Given the description of an element on the screen output the (x, y) to click on. 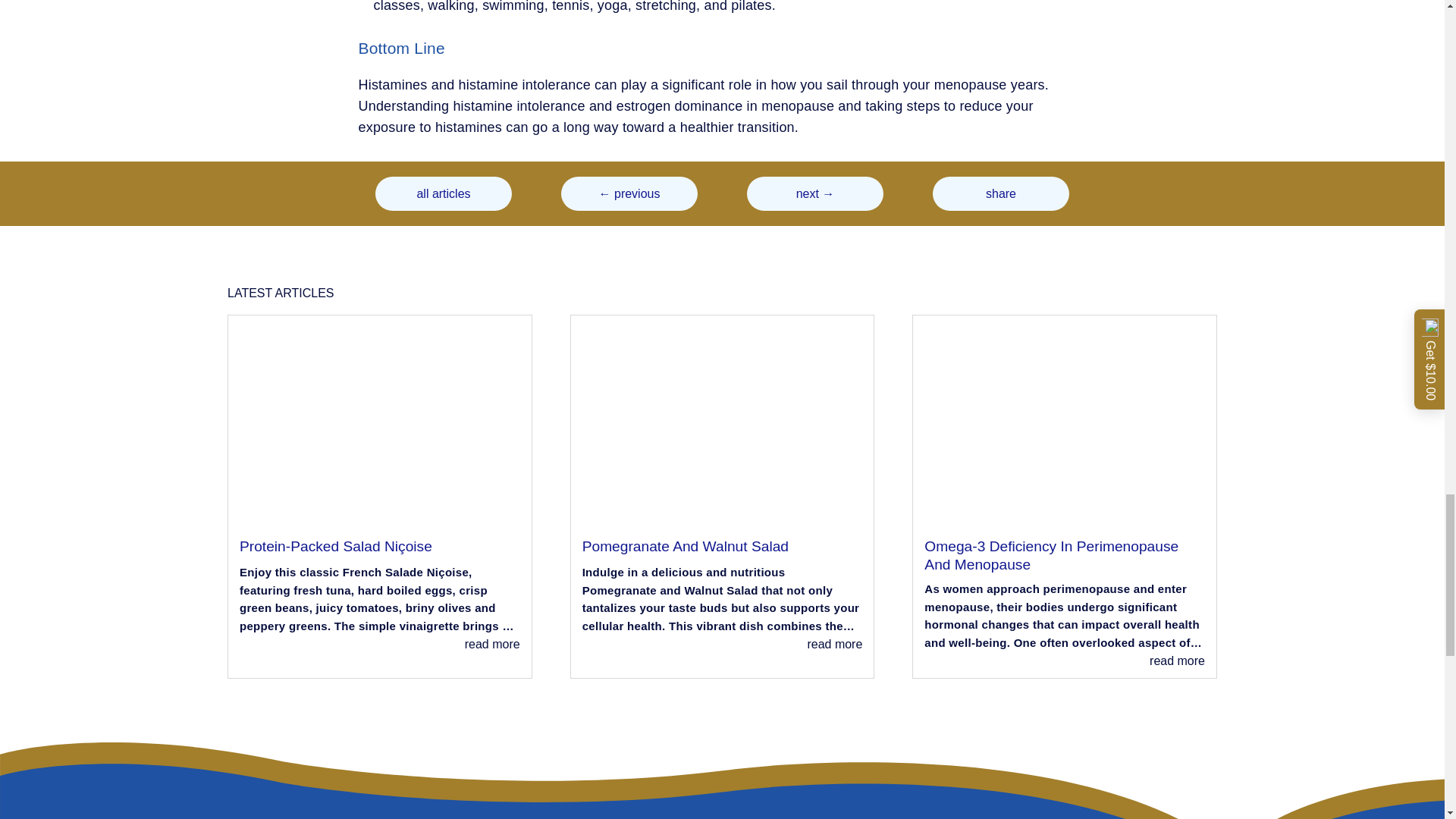
Omega-3 Deficiency in Perimenopause and Menopause (1064, 424)
Pomegranate and Walnut Salad (722, 424)
share (1000, 193)
all articles (443, 193)
